Given the description of an element on the screen output the (x, y) to click on. 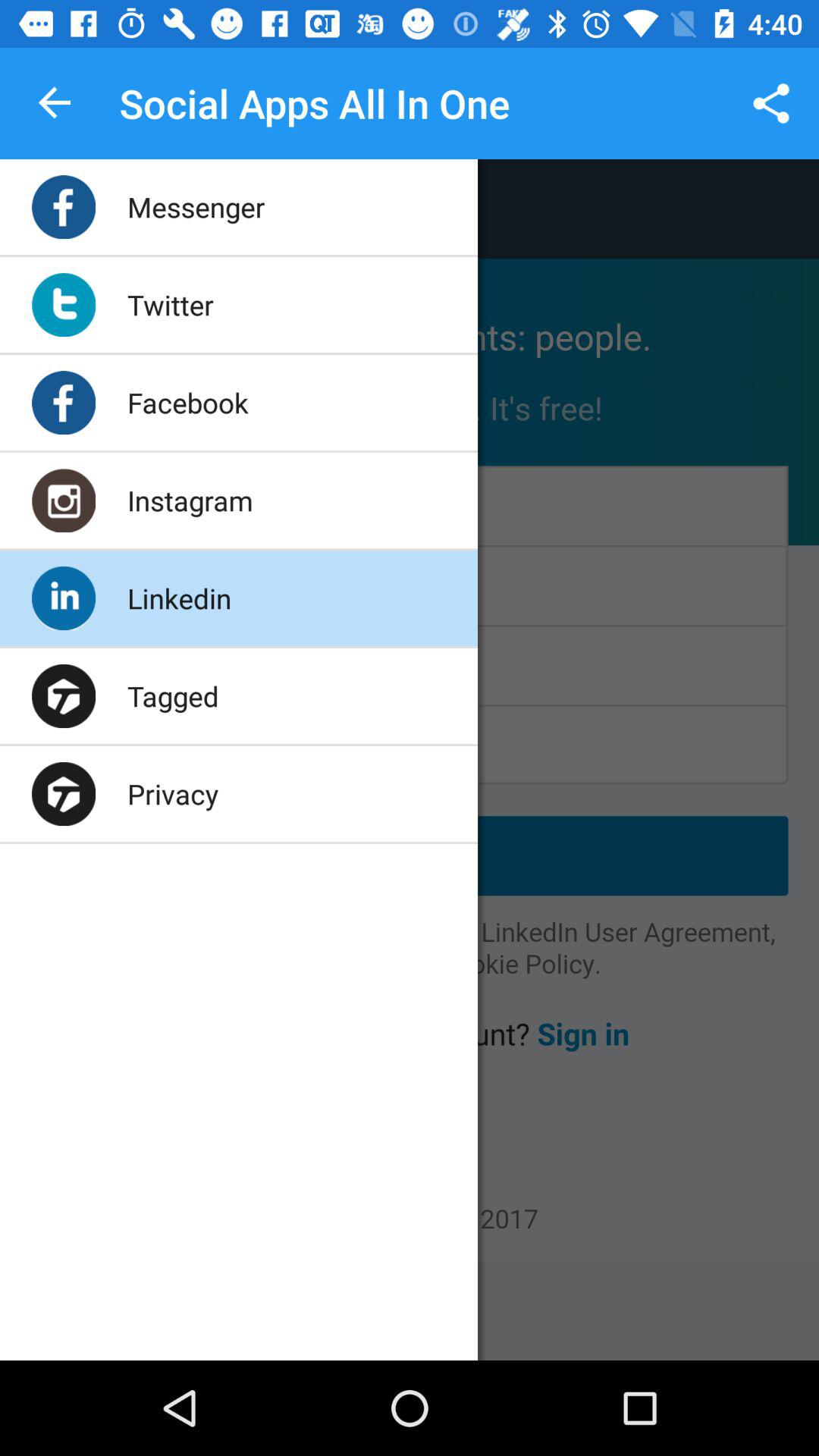
select the tagged app (172, 695)
